Given the description of an element on the screen output the (x, y) to click on. 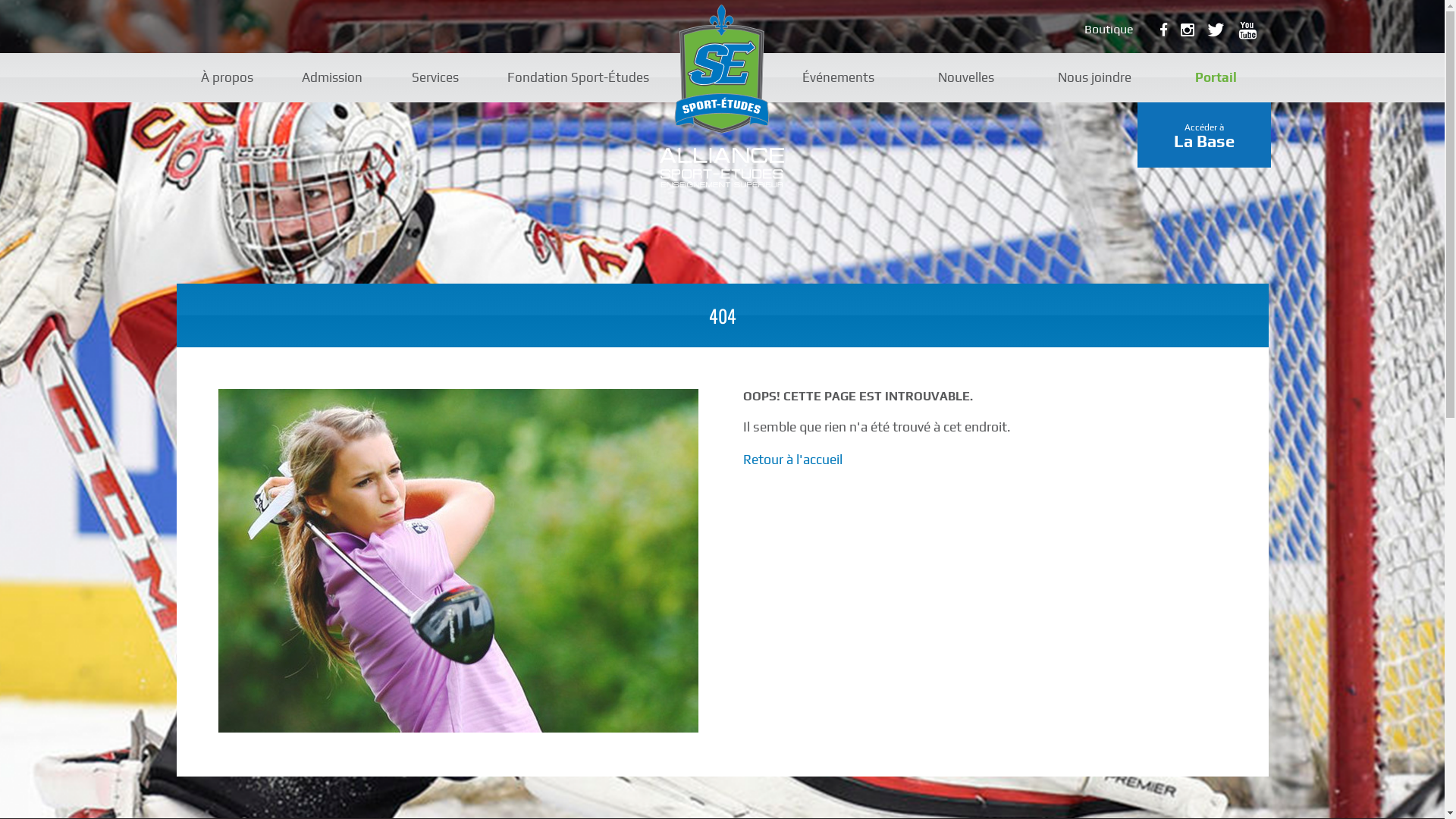
Boutique Element type: text (1108, 28)
Portail Element type: text (1215, 77)
Nouvelles Element type: text (966, 77)
Nous joindre Element type: text (1094, 77)
Admission Element type: text (332, 77)
Services Element type: text (434, 77)
